Given the description of an element on the screen output the (x, y) to click on. 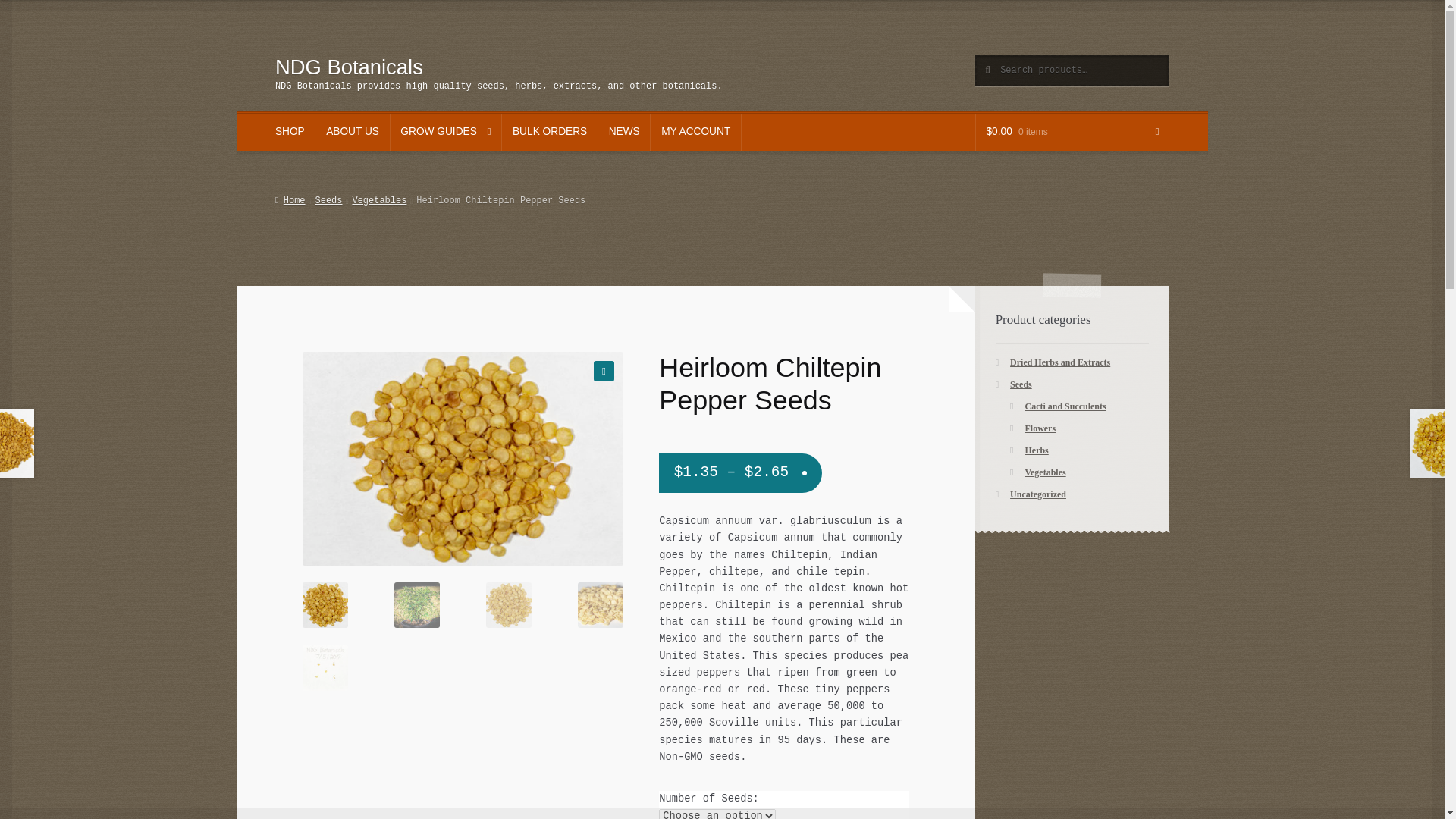
GROW GUIDES (446, 132)
MY ACCOUNT (695, 132)
NDG Botanicals (349, 66)
View your shopping cart (1072, 132)
NEWS (624, 132)
SHOP (289, 132)
ABOUT US (351, 132)
BULK ORDERS (549, 132)
